Given the description of an element on the screen output the (x, y) to click on. 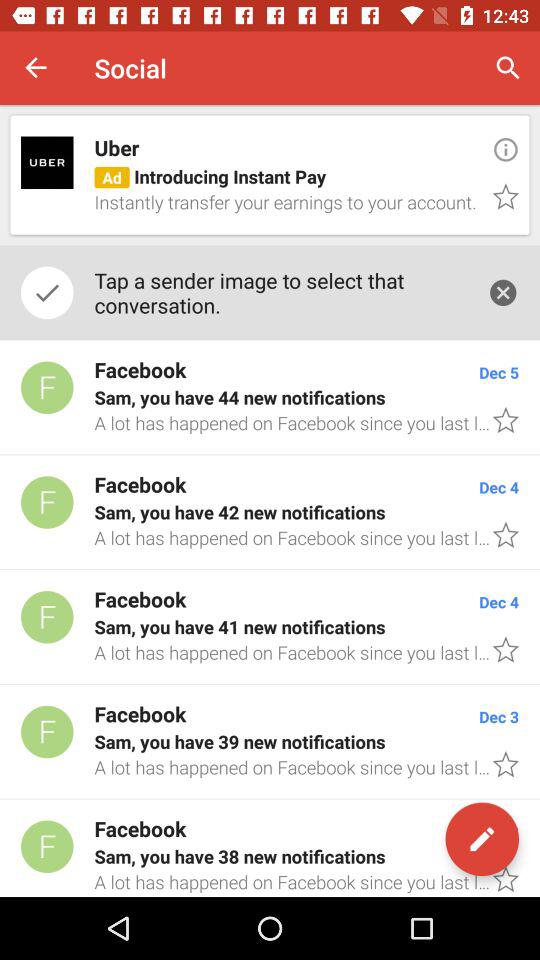
open item to the right of the tap a sender item (503, 292)
